Given the description of an element on the screen output the (x, y) to click on. 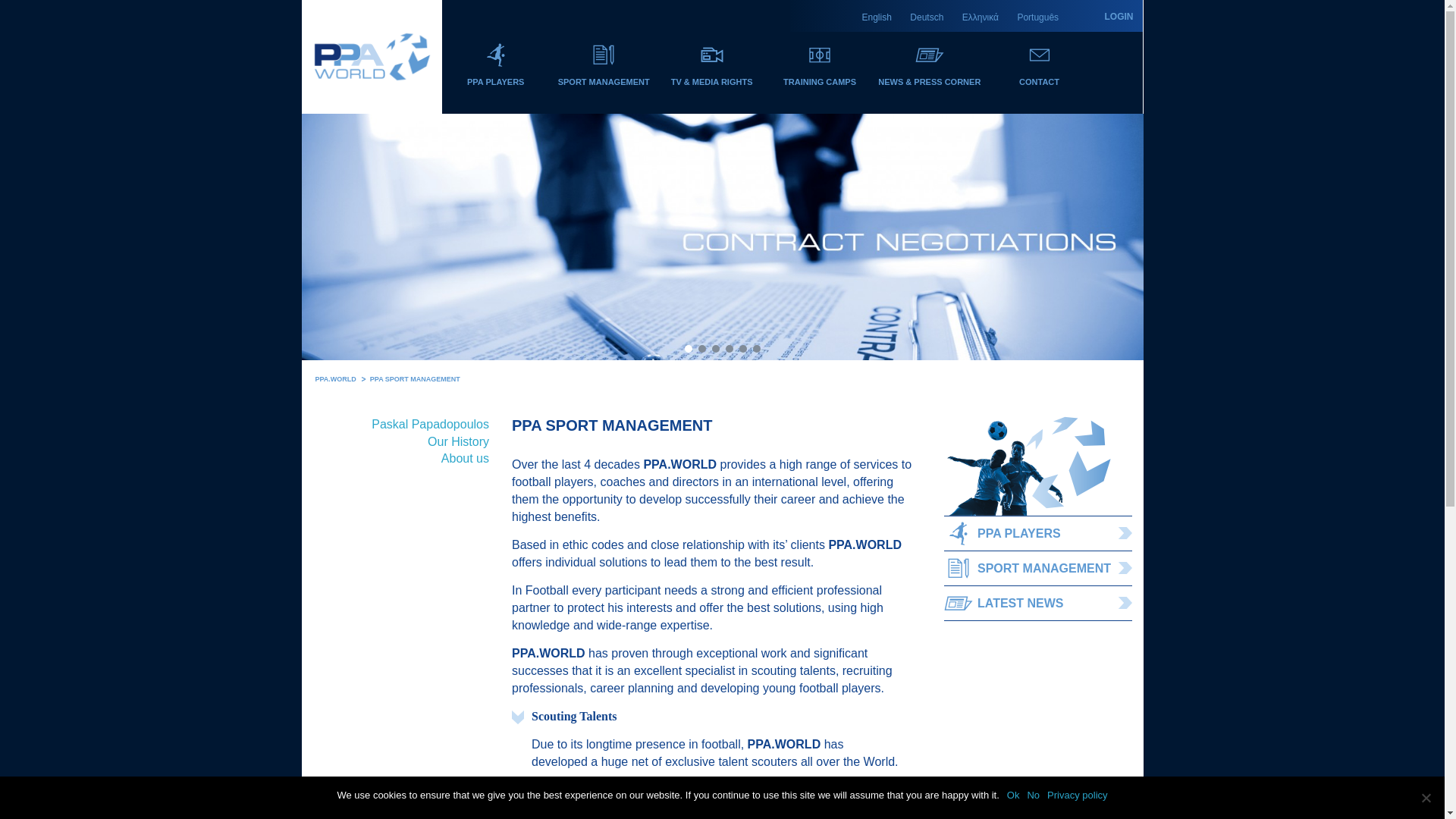
1 (687, 348)
Paskal Papadopoulos (430, 423)
SPORT MANAGEMENT (1037, 567)
PPA PLAYERS (494, 78)
Our History (458, 440)
TRAINING CAMPS (819, 78)
3 (715, 348)
5 (741, 348)
No (1425, 797)
Go to PPA.WORLD. (335, 379)
